Given the description of an element on the screen output the (x, y) to click on. 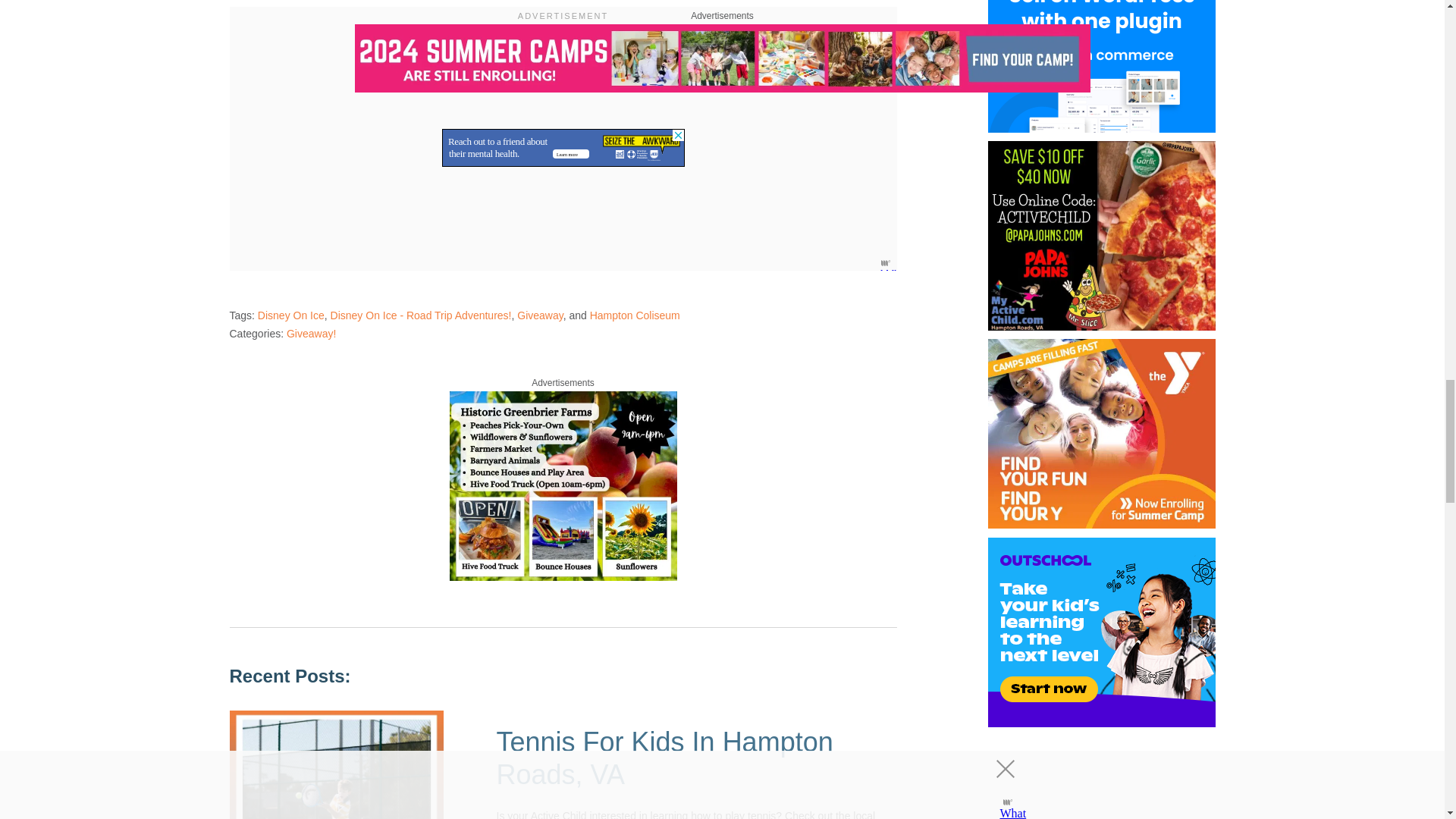
3rd party ad content (562, 147)
